Given the description of an element on the screen output the (x, y) to click on. 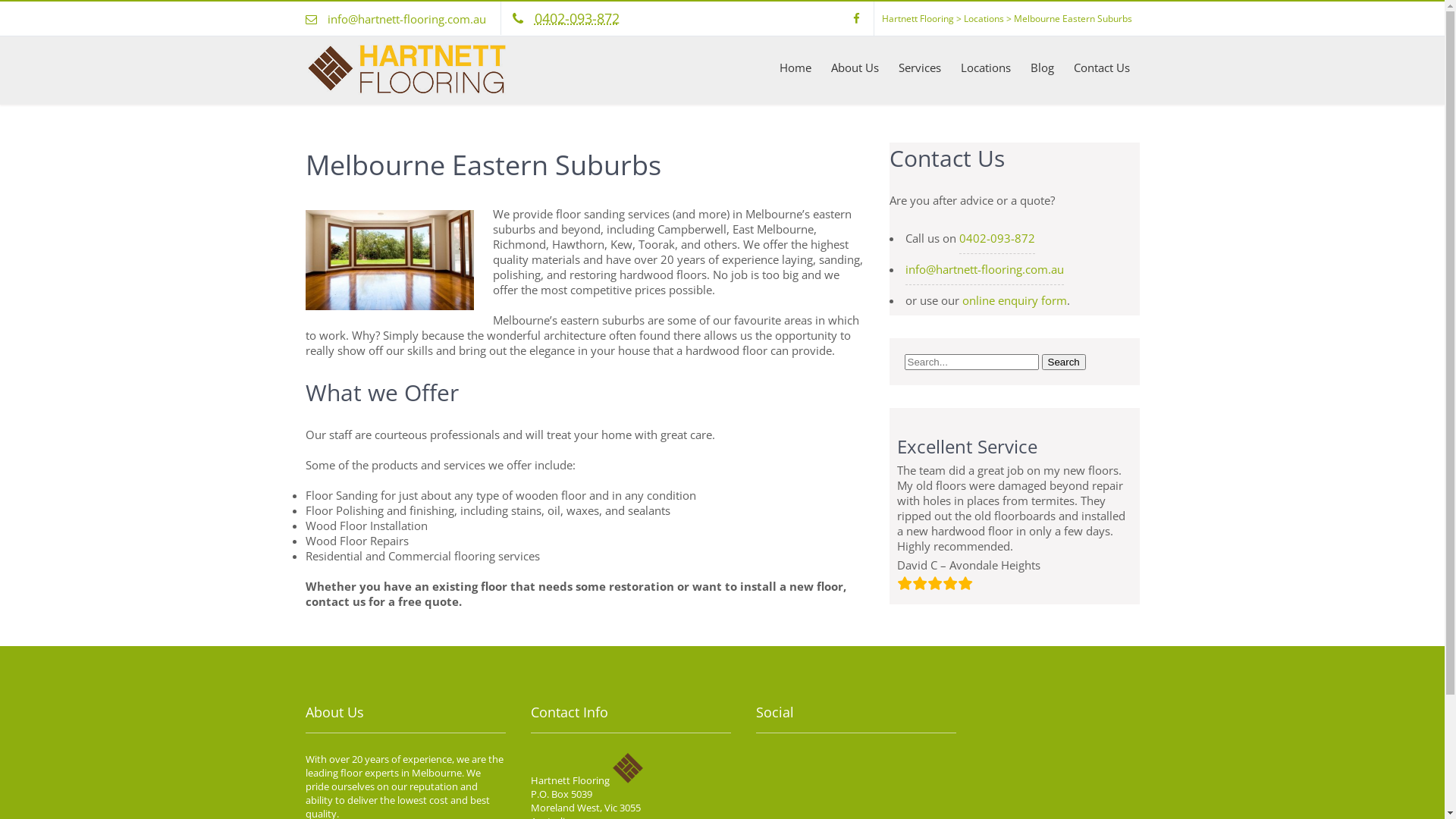
Locations Element type: text (983, 18)
info@hartnett-flooring.com.au Element type: text (406, 18)
Home Element type: text (794, 66)
facebook Element type: hover (855, 18)
Services Element type: text (919, 66)
Locations Element type: text (985, 66)
0402-093-872 Element type: text (996, 238)
About Us Element type: text (854, 66)
online enquiry form Element type: text (1013, 300)
Search Element type: text (1063, 362)
Hartnett Flooring, Melbourne Element type: hover (405, 90)
Hartnett Flooring Element type: text (917, 18)
0402-093-872 Element type: text (575, 18)
Contact Us Element type: text (1101, 66)
info@hartnett-flooring.com.au Element type: text (984, 269)
Blog Element type: text (1041, 66)
